Given the description of an element on the screen output the (x, y) to click on. 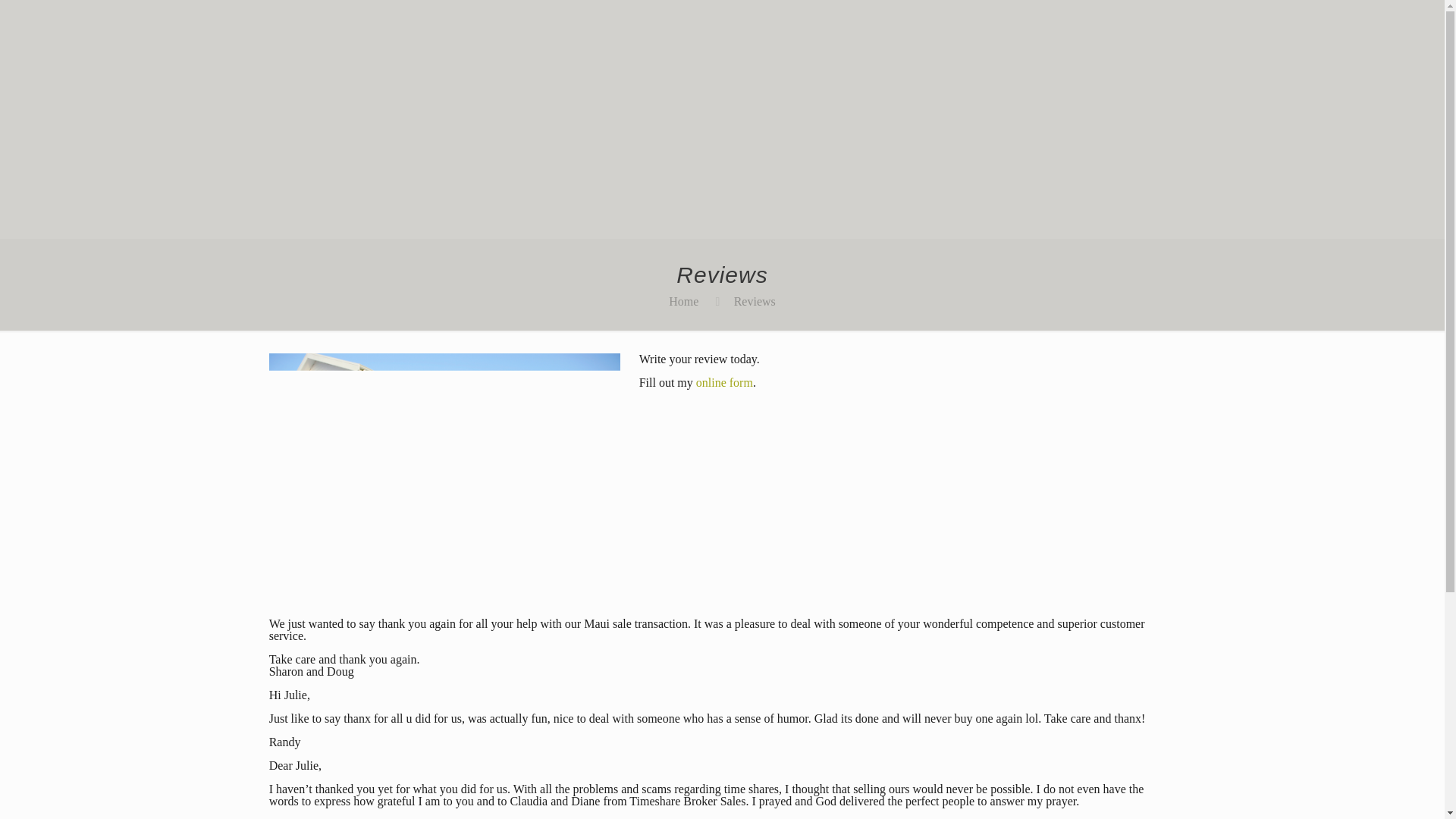
online form (723, 382)
Reviews (754, 300)
Home (683, 300)
Generational family sitting on porch (445, 470)
